Given the description of an element on the screen output the (x, y) to click on. 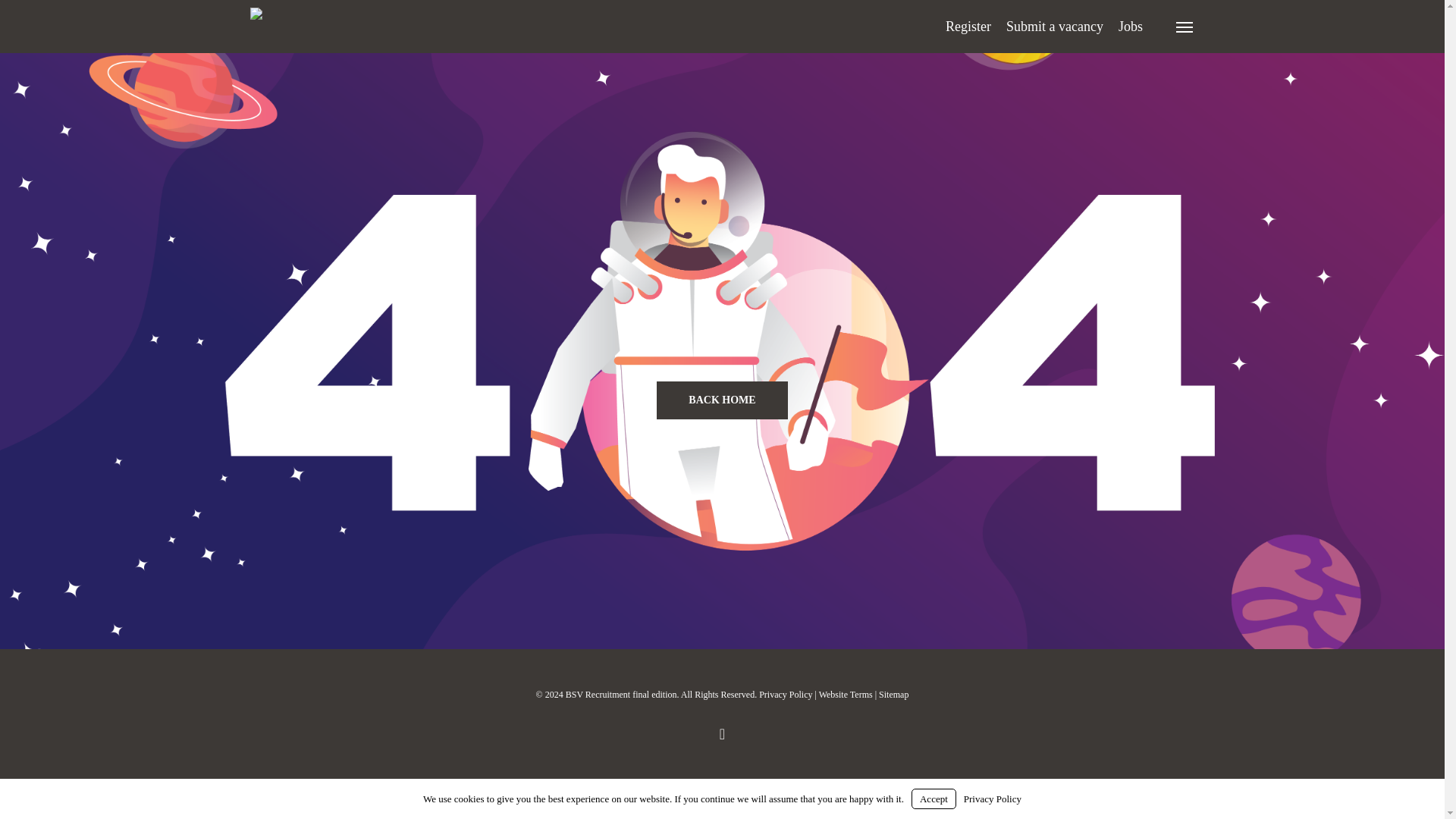
Menu (1184, 26)
BACK HOME (721, 399)
Privacy Policy (785, 694)
linkedin (722, 732)
Register (967, 26)
Recsites (754, 788)
Accept (933, 798)
Jobs (1130, 26)
Privacy Policy (992, 798)
Sitemap (893, 694)
